Given the description of an element on the screen output the (x, y) to click on. 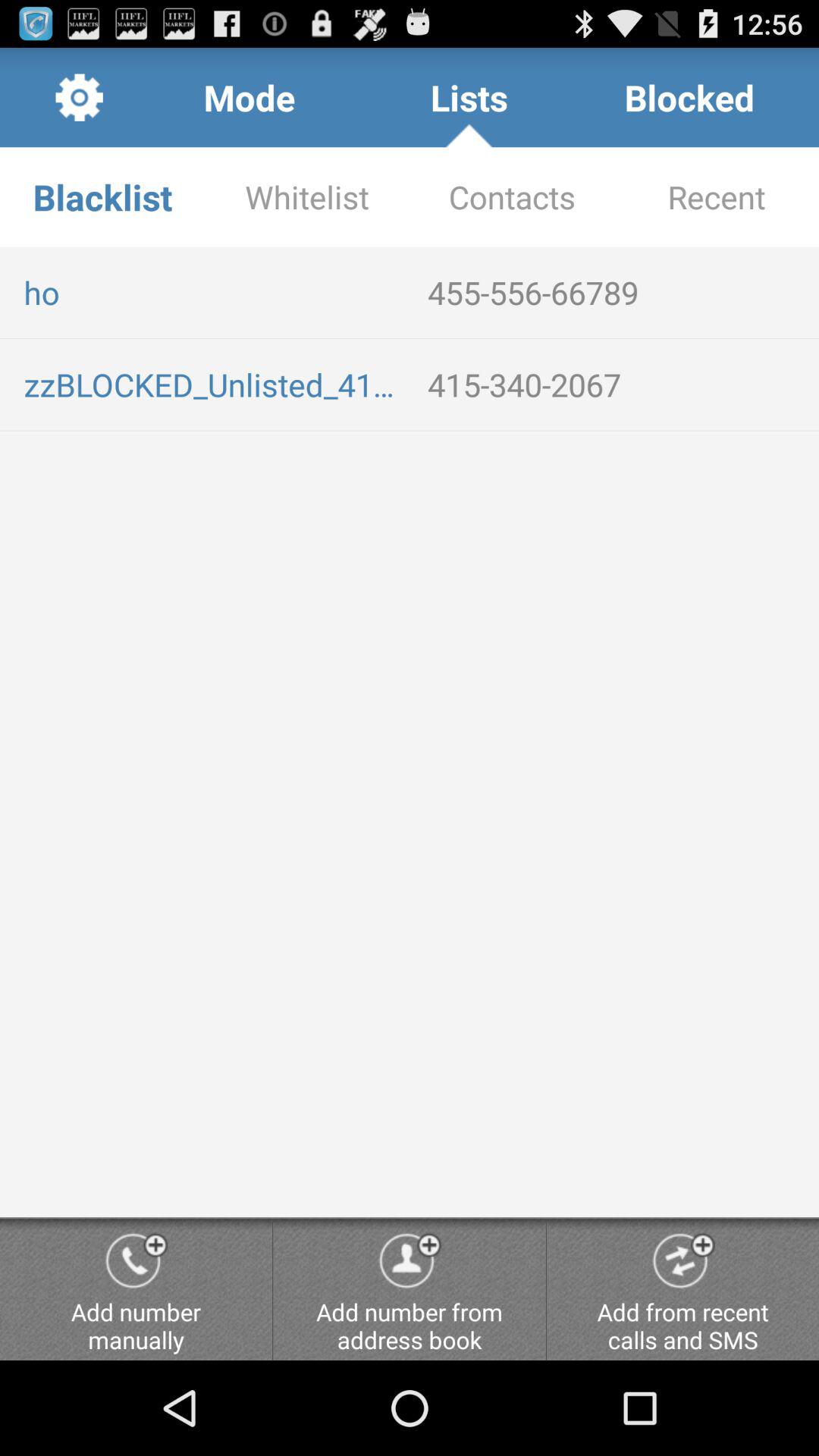
turn off the item next to recent item (511, 196)
